Given the description of an element on the screen output the (x, y) to click on. 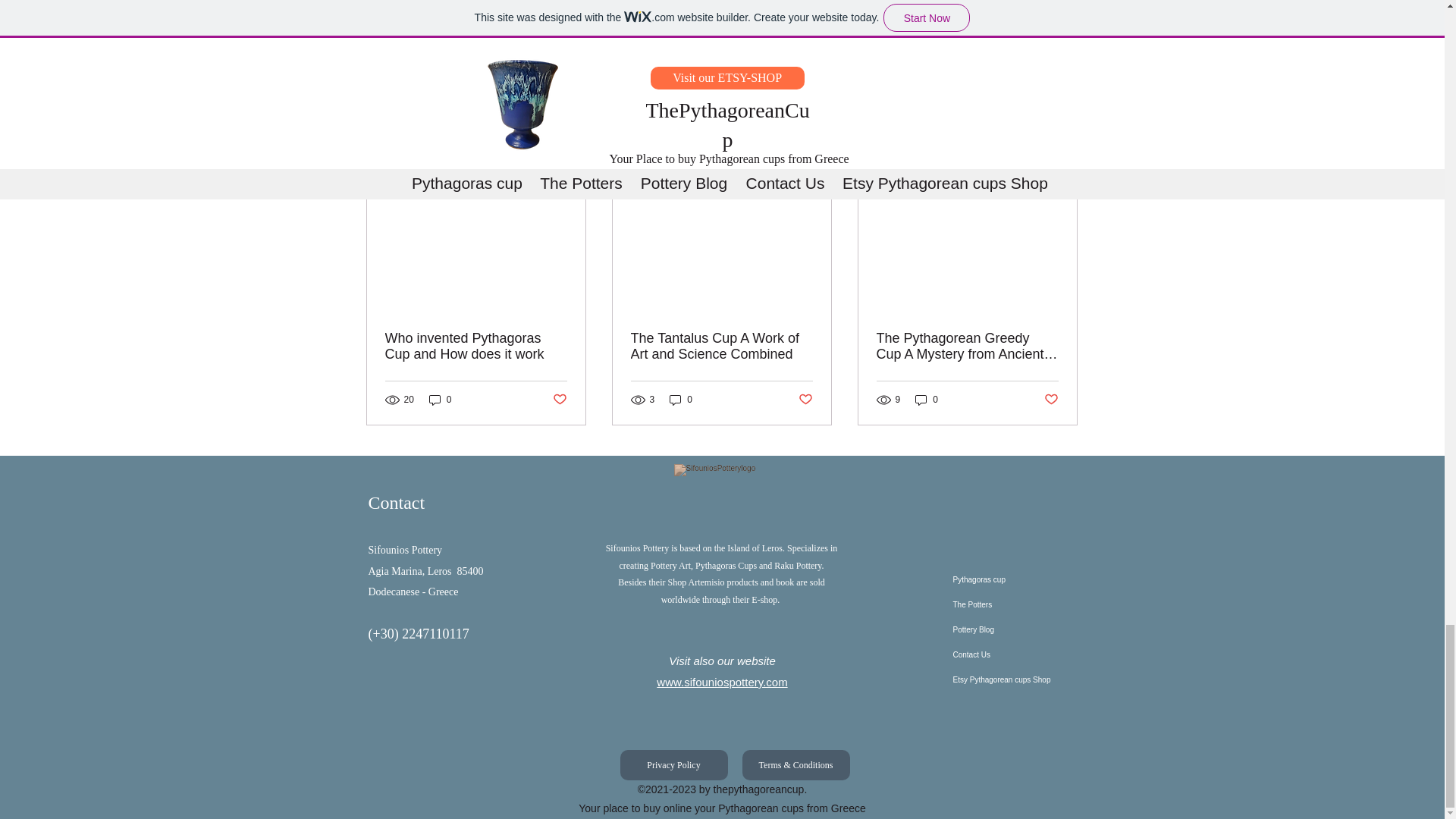
Who invented Pythagoras Cup and How does it work (476, 346)
Pythagorean Cups (892, 34)
Pottery Art (978, 34)
See All (1061, 162)
Post not marked as liked (995, 79)
0 (440, 400)
Post not marked as liked (558, 399)
Sifounios Pottery logo (722, 489)
